Given the description of an element on the screen output the (x, y) to click on. 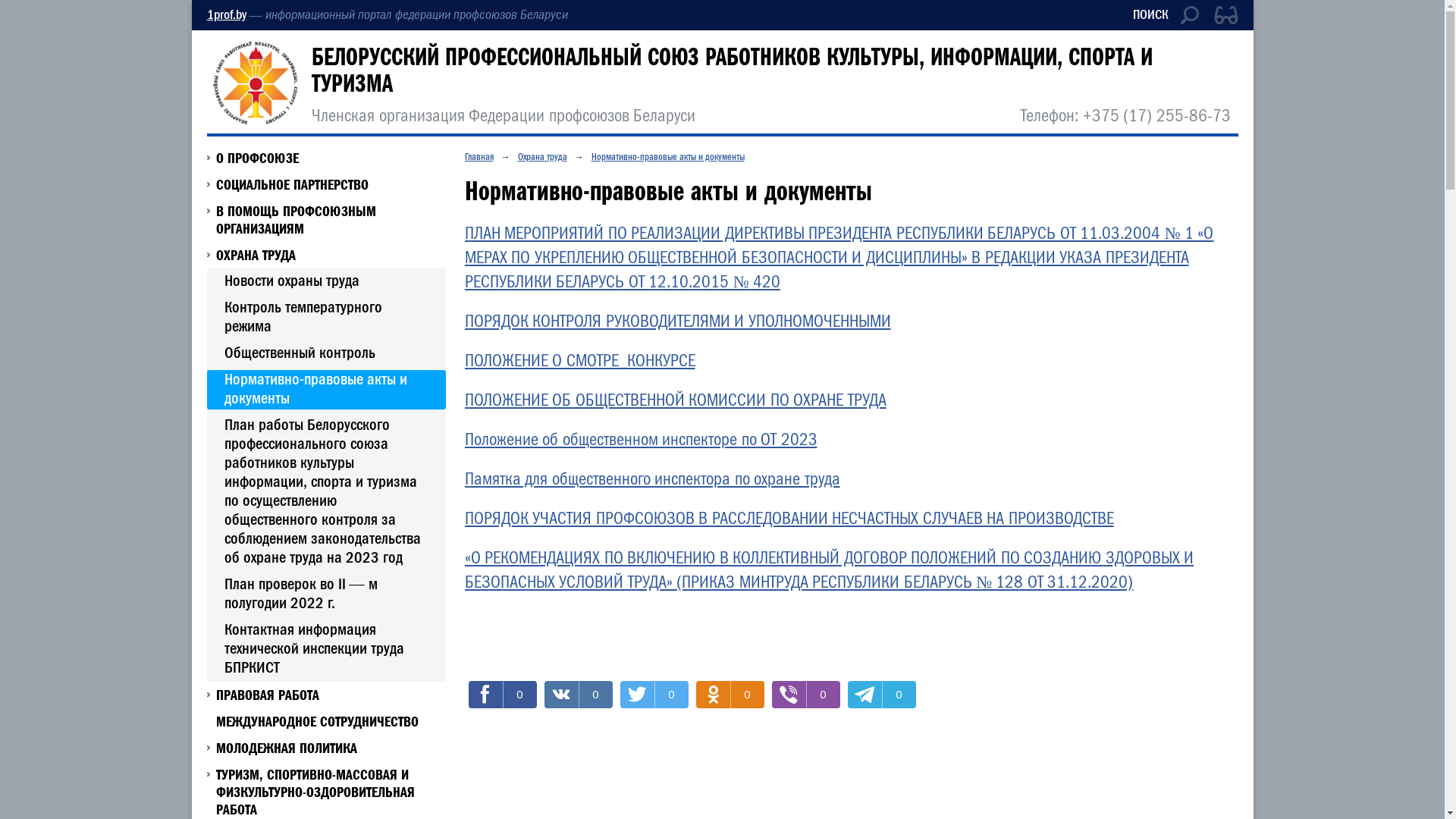
1prof.by Element type: text (225, 14)
